Given the description of an element on the screen output the (x, y) to click on. 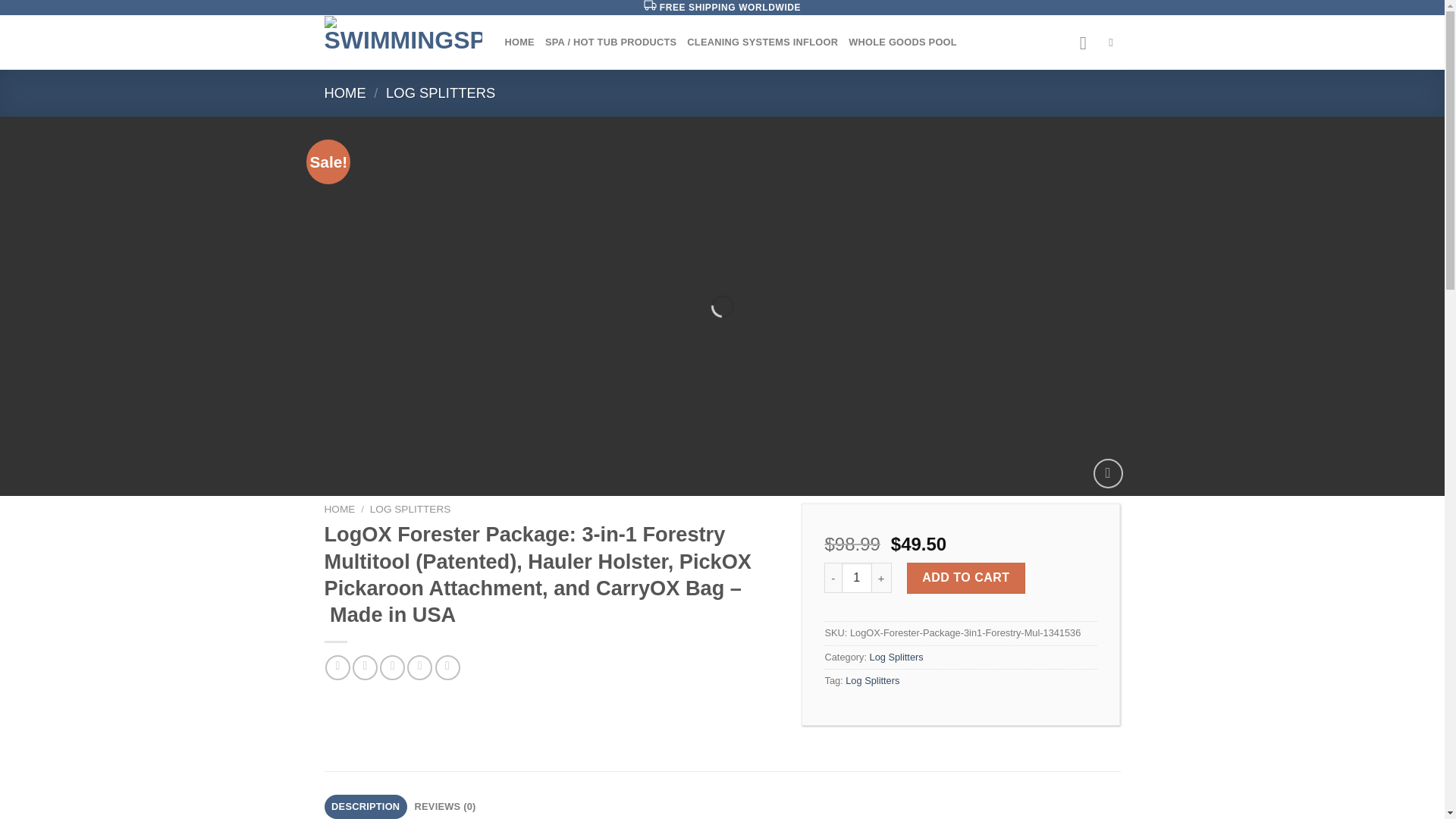
WHOLE GOODS POOL (902, 42)
Log Splitters (872, 680)
HOME (345, 92)
ADD TO CART (966, 577)
Zoom (1107, 473)
LOG SPLITTERS (440, 92)
HOME (519, 42)
DESCRIPTION (365, 806)
Share on Twitter (364, 667)
Share on Facebook (337, 667)
